Given the description of an element on the screen output the (x, y) to click on. 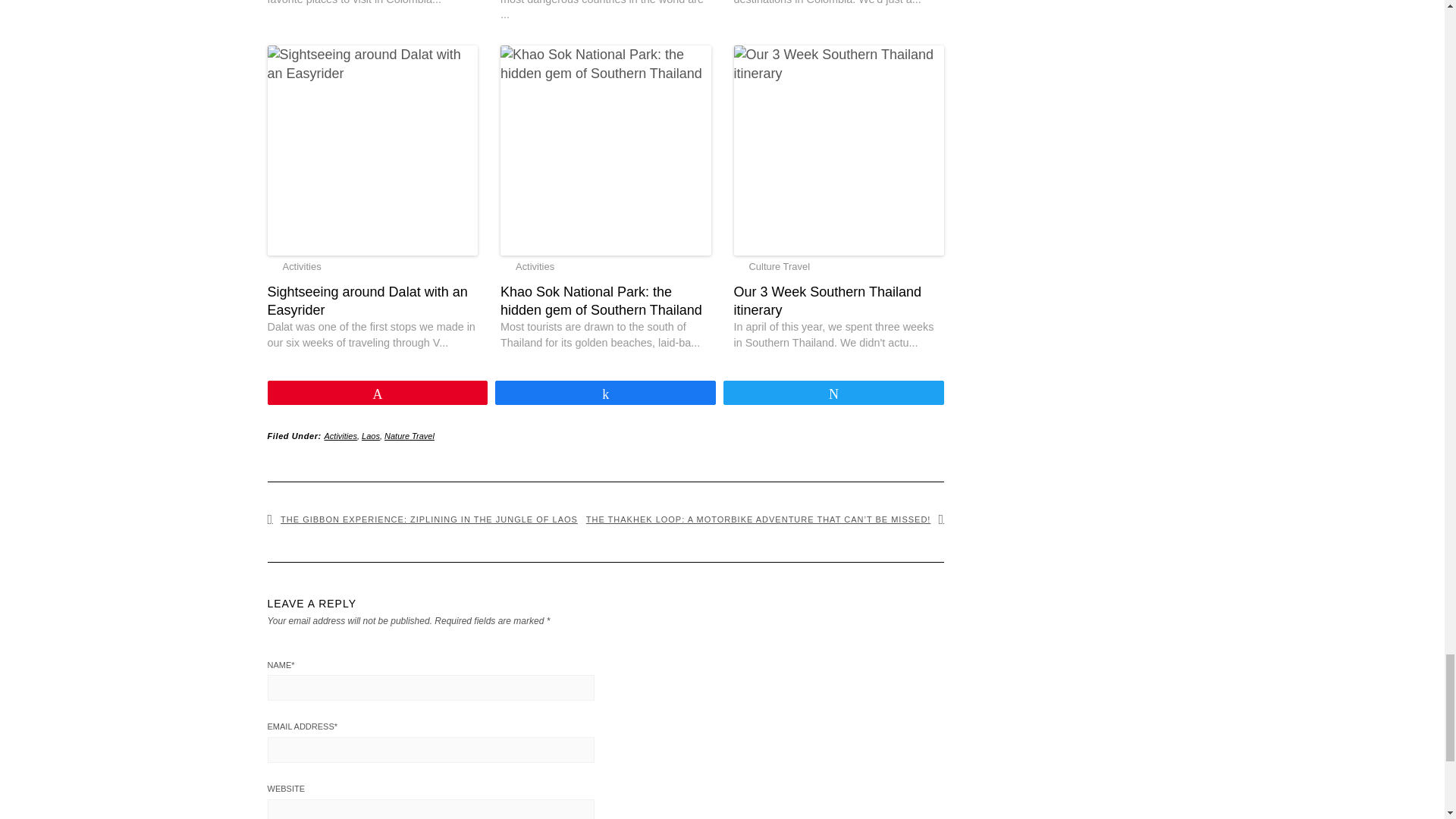
Our 3 Week Southern Thailand itinerary (838, 301)
Sightseeing around Dalat with an Easyrider (371, 301)
Khao Sok National Park: the hidden gem of Southern Thailand (605, 301)
